Given the description of an element on the screen output the (x, y) to click on. 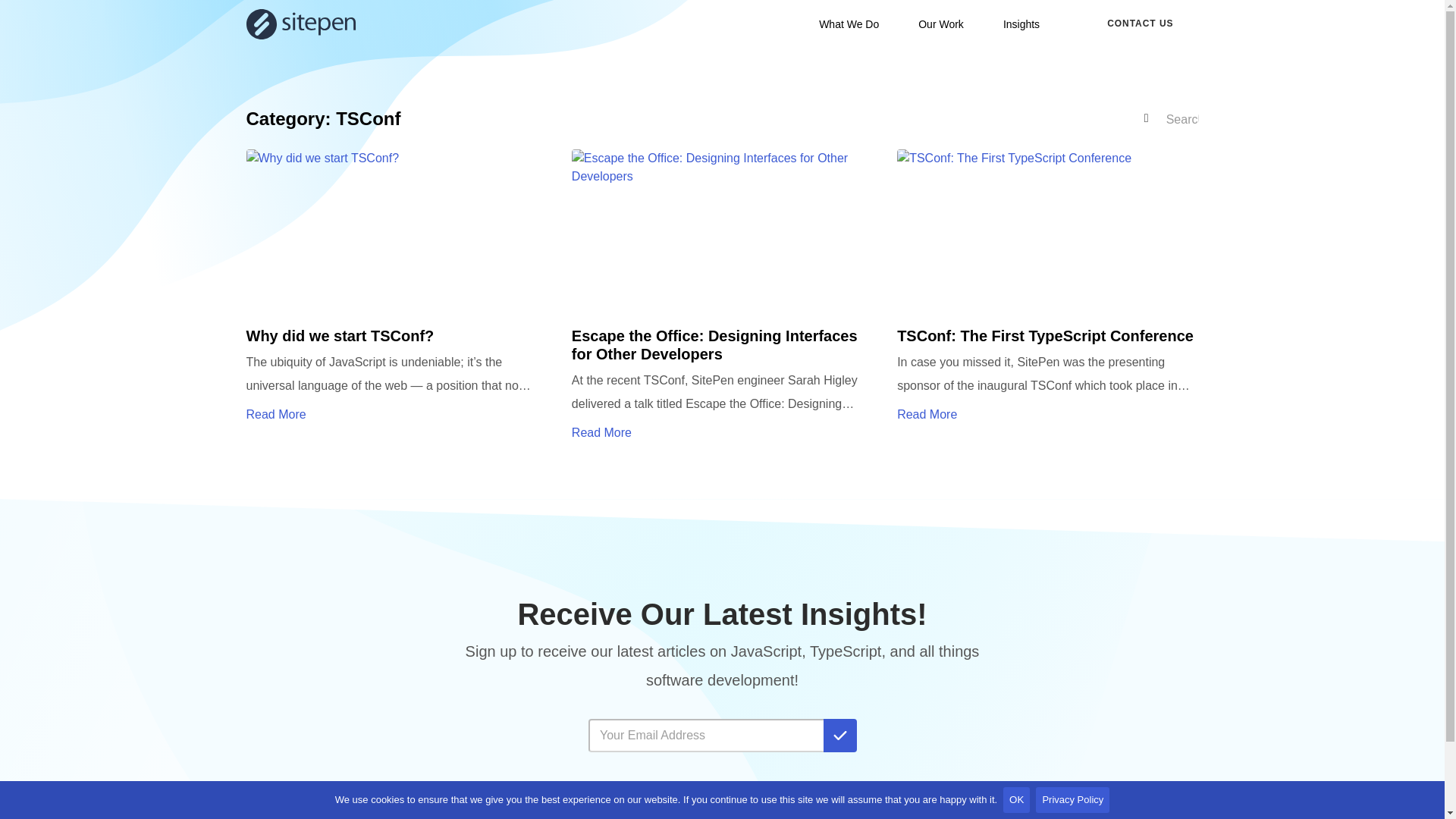
Why did we start TSConf? (396, 296)
Our Work (941, 24)
Home (300, 24)
Insights (1021, 24)
What We Do (848, 23)
TSConf: The First TypeScript Conference (1047, 296)
Privacy Policy (1072, 800)
OK (1016, 800)
Newsletter (722, 723)
